Given the description of an element on the screen output the (x, y) to click on. 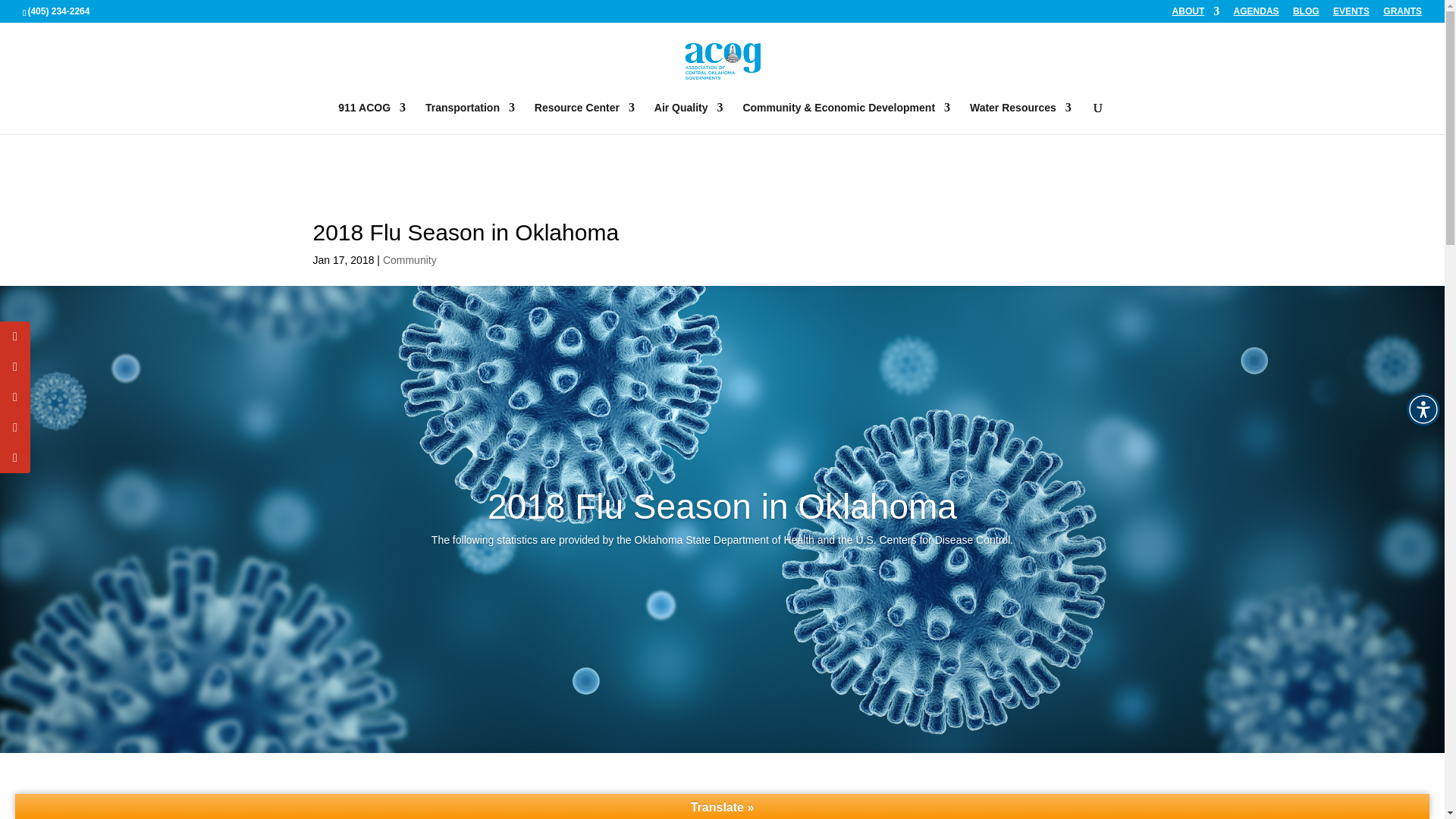
Accessibility Menu (1422, 409)
Transportation (470, 118)
BLOG (1305, 14)
GRANTS (1402, 14)
AGENDAS (1256, 14)
911 ACOG (371, 118)
ABOUT (1196, 14)
EVENTS (1351, 14)
